Given the description of an element on the screen output the (x, y) to click on. 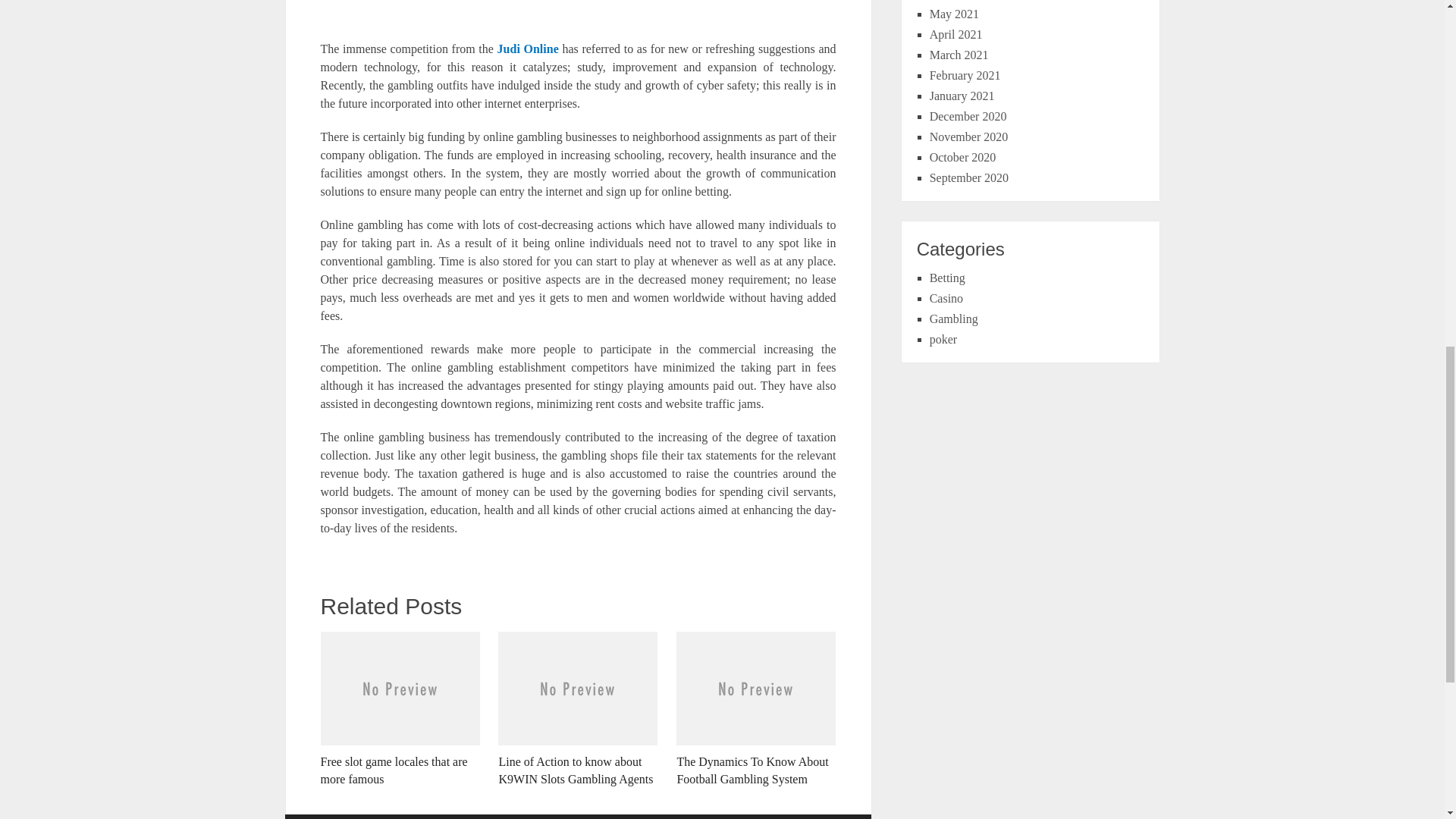
The Dynamics To Know About Football Gambling System (756, 709)
Free slot game locales that are more famous (399, 709)
December 2020 (968, 115)
Free slot game locales that are more famous (399, 709)
The Dynamics To Know About Football Gambling System (756, 709)
Line of Action to know about K9WIN Slots Gambling Agents (577, 709)
May 2021 (954, 13)
April 2021 (956, 33)
February 2021 (965, 74)
November 2020 (969, 136)
March 2021 (959, 54)
Line of Action to know about K9WIN Slots Gambling Agents (577, 709)
January 2021 (962, 95)
Judi Online (528, 48)
